Given the description of an element on the screen output the (x, y) to click on. 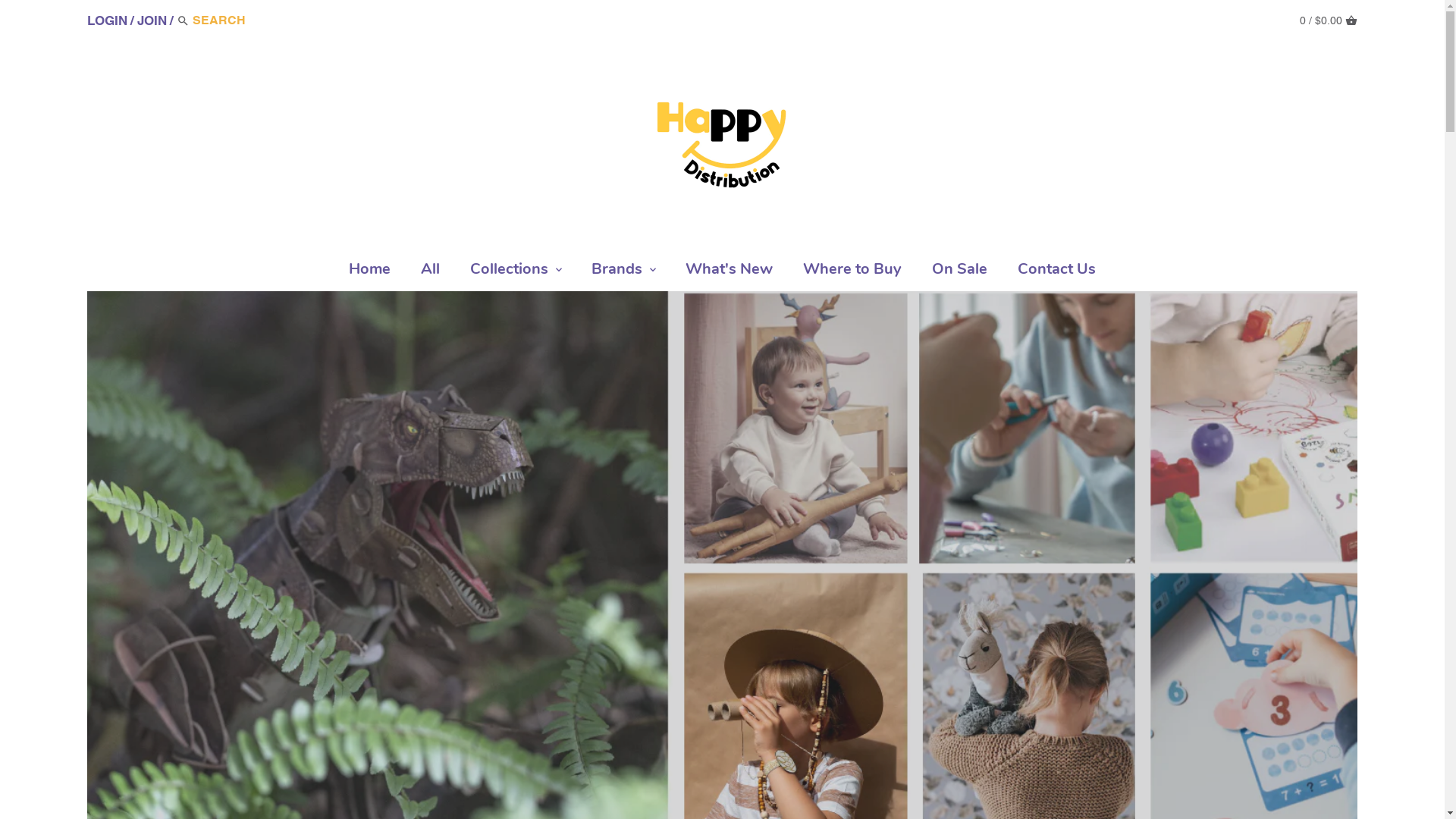
Brands Element type: text (616, 272)
Contact Us Element type: text (1056, 272)
0 / $0.00 CART Element type: text (1328, 19)
JOIN Element type: text (151, 20)
Home Element type: text (369, 272)
Where to Buy Element type: text (851, 272)
On Sale Element type: text (959, 272)
Search Element type: text (182, 21)
LOGIN Element type: text (107, 20)
All Element type: text (430, 272)
What's New Element type: text (728, 272)
Collections Element type: text (509, 272)
